Given the description of an element on the screen output the (x, y) to click on. 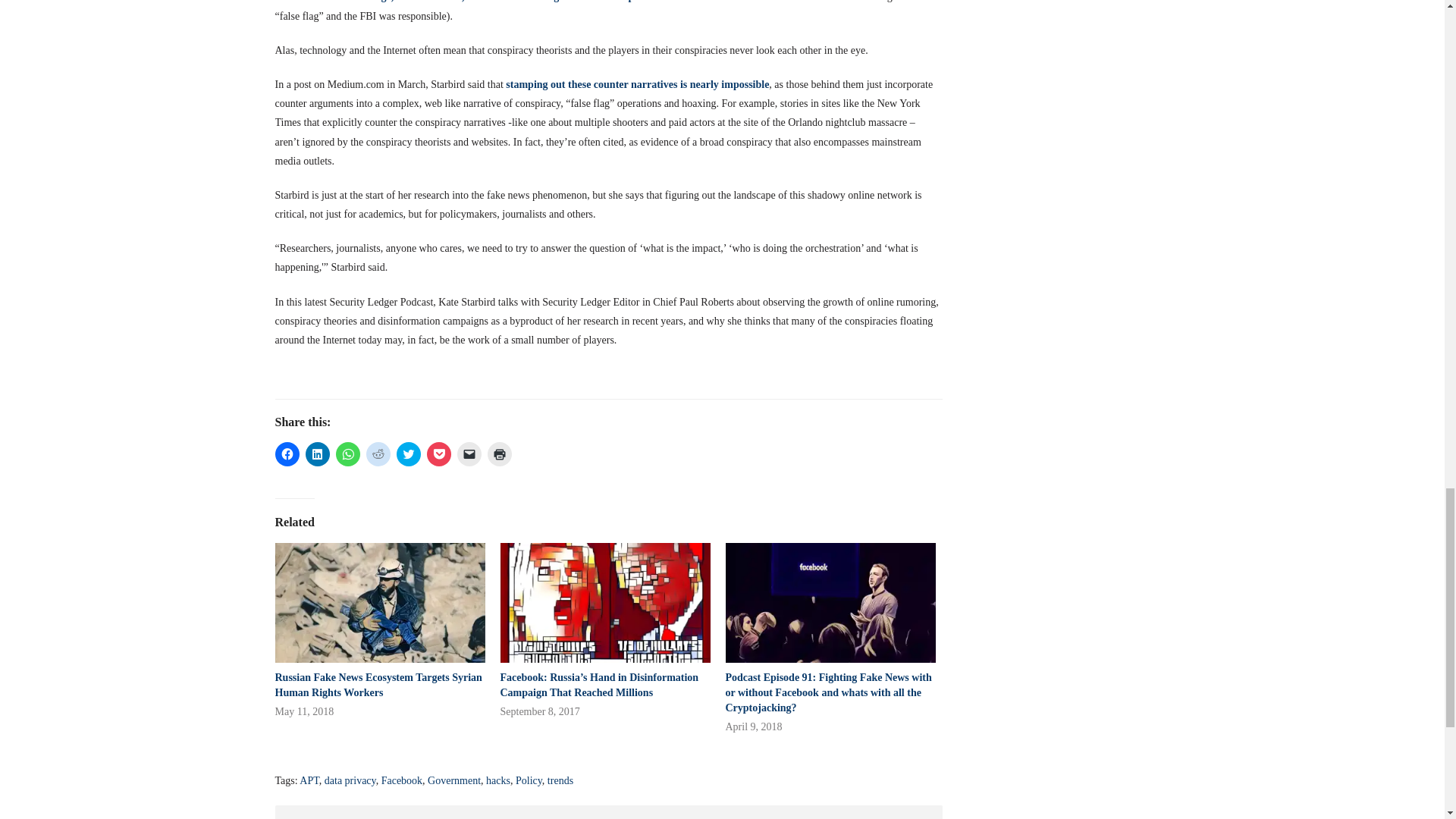
Click to share on Facebook (286, 454)
Click to share on LinkedIn (316, 454)
